Given the description of an element on the screen output the (x, y) to click on. 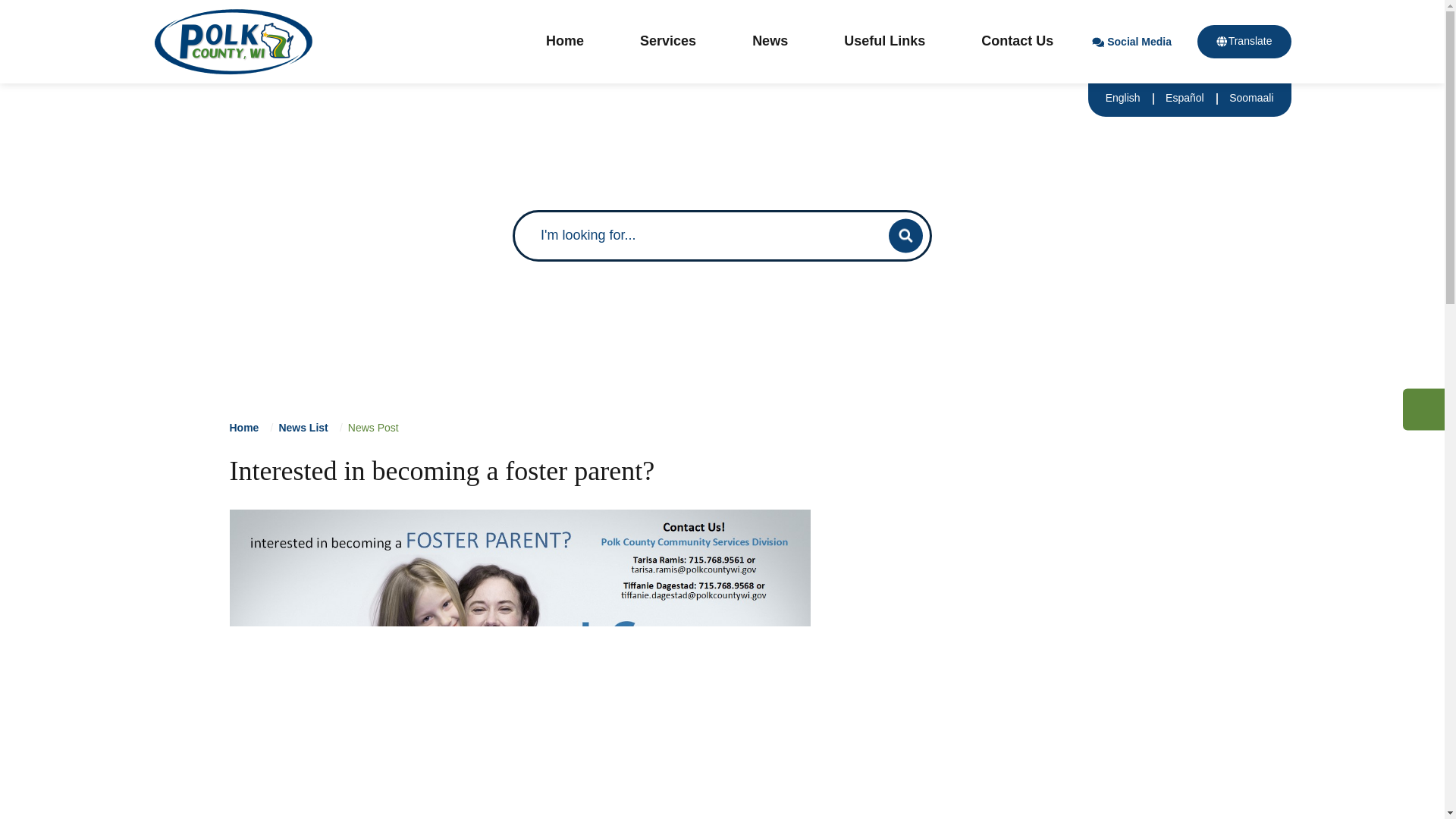
Social Media (1139, 41)
Useful Links (884, 41)
Services (667, 41)
Home (564, 41)
Contact Us (1017, 41)
News (769, 41)
Translate (1243, 41)
